Given the description of an element on the screen output the (x, y) to click on. 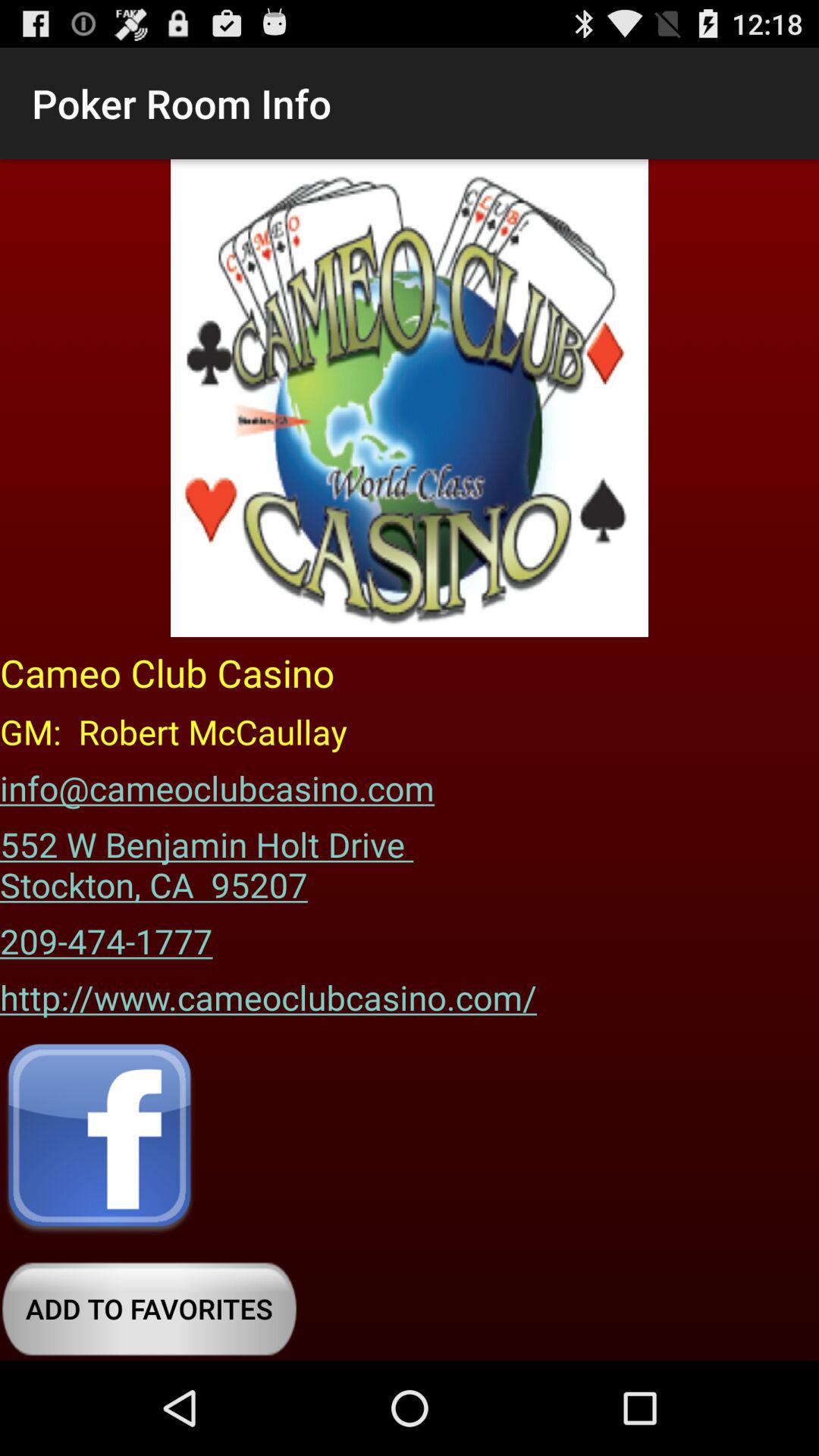
share on facebook (99, 1139)
